Given the description of an element on the screen output the (x, y) to click on. 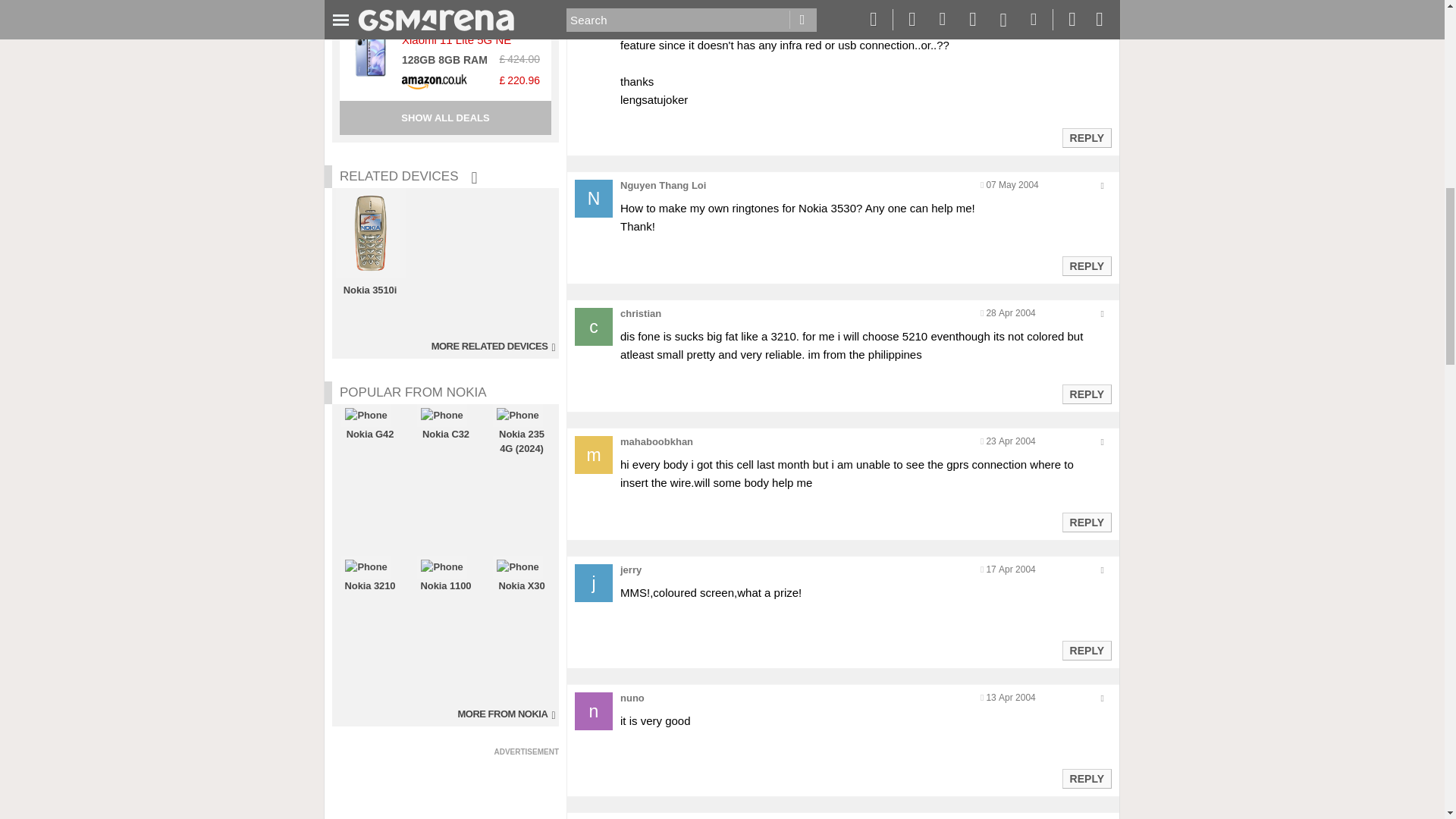
Reply to this post (1086, 522)
Reply to this post (1086, 265)
Reply to this post (1086, 650)
Reply to this post (1086, 137)
Reply to this post (1086, 778)
Reply to this post (1086, 394)
